Given the description of an element on the screen output the (x, y) to click on. 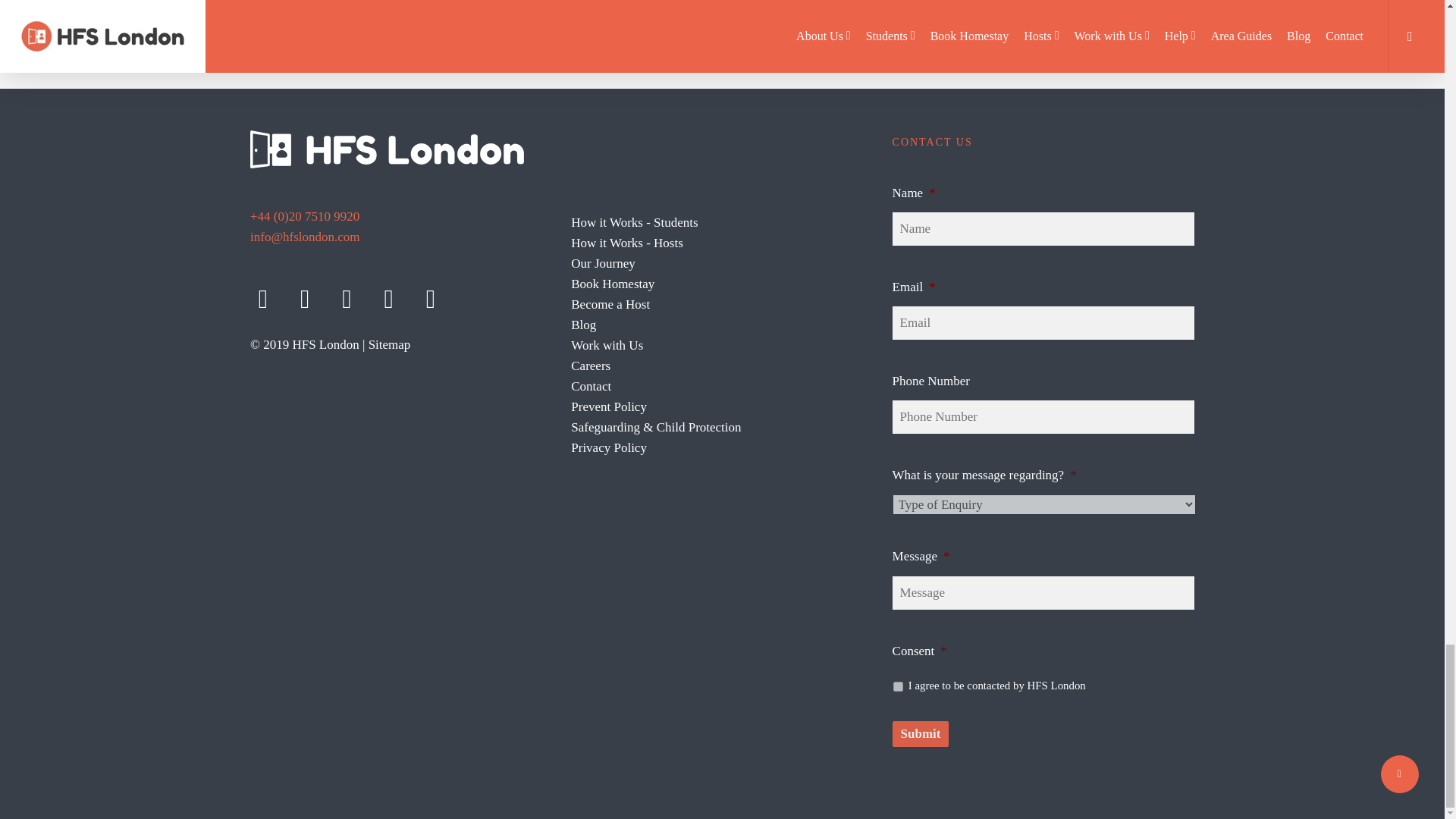
Submit (920, 733)
Submit Comment (721, 32)
I agree to be contacted by HFS London (897, 686)
